Given the description of an element on the screen output the (x, y) to click on. 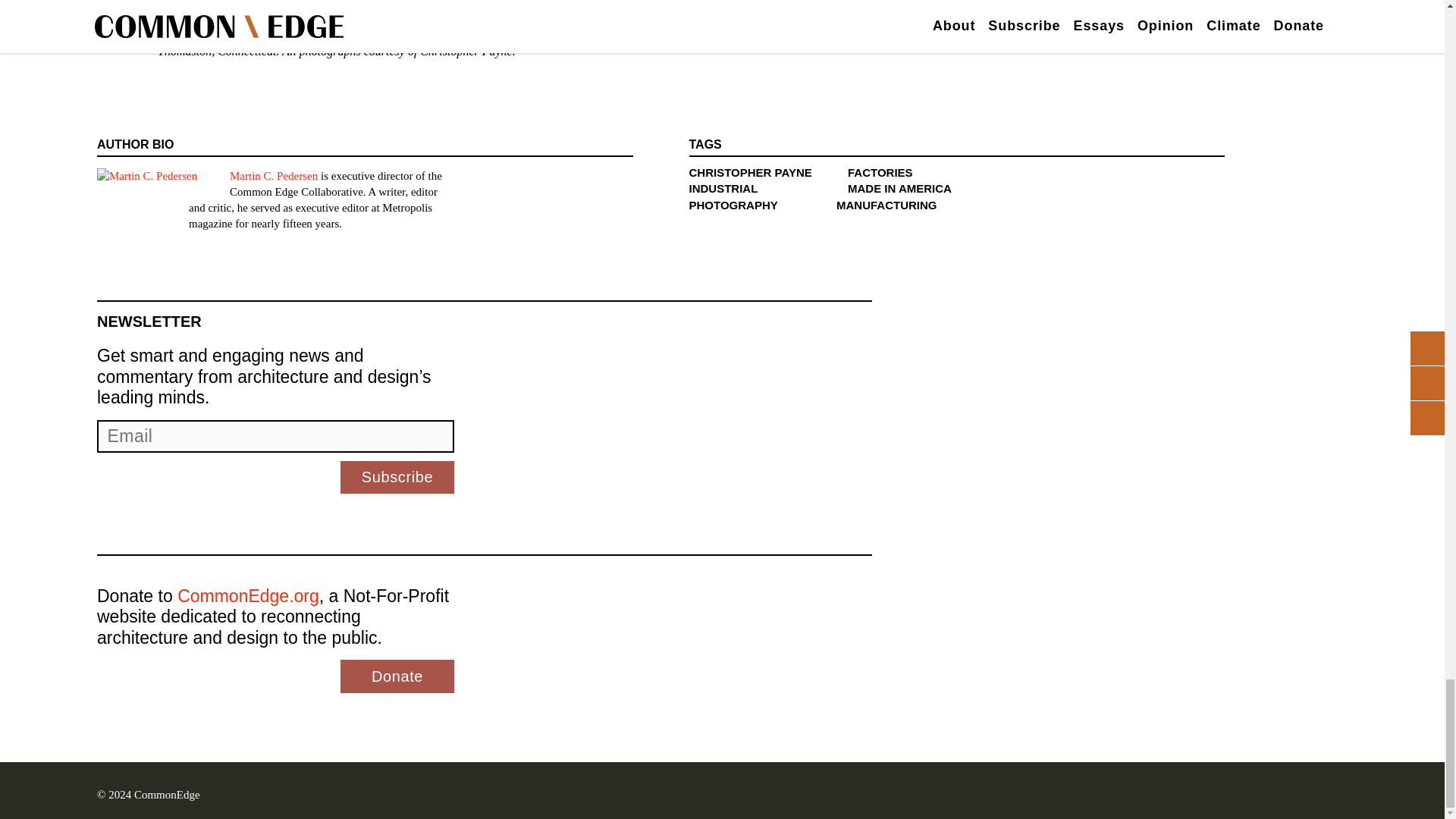
MADE IN AMERICA (899, 187)
MANUFACTURING (886, 205)
Subscribe (397, 477)
Donate (397, 676)
Subscribe (397, 477)
FACTORIES (879, 172)
CHRISTOPHER PAYNE (749, 172)
Martin C. Pedersen (273, 175)
INDUSTRIAL PHOTOGRAPHY (732, 196)
